Given the description of an element on the screen output the (x, y) to click on. 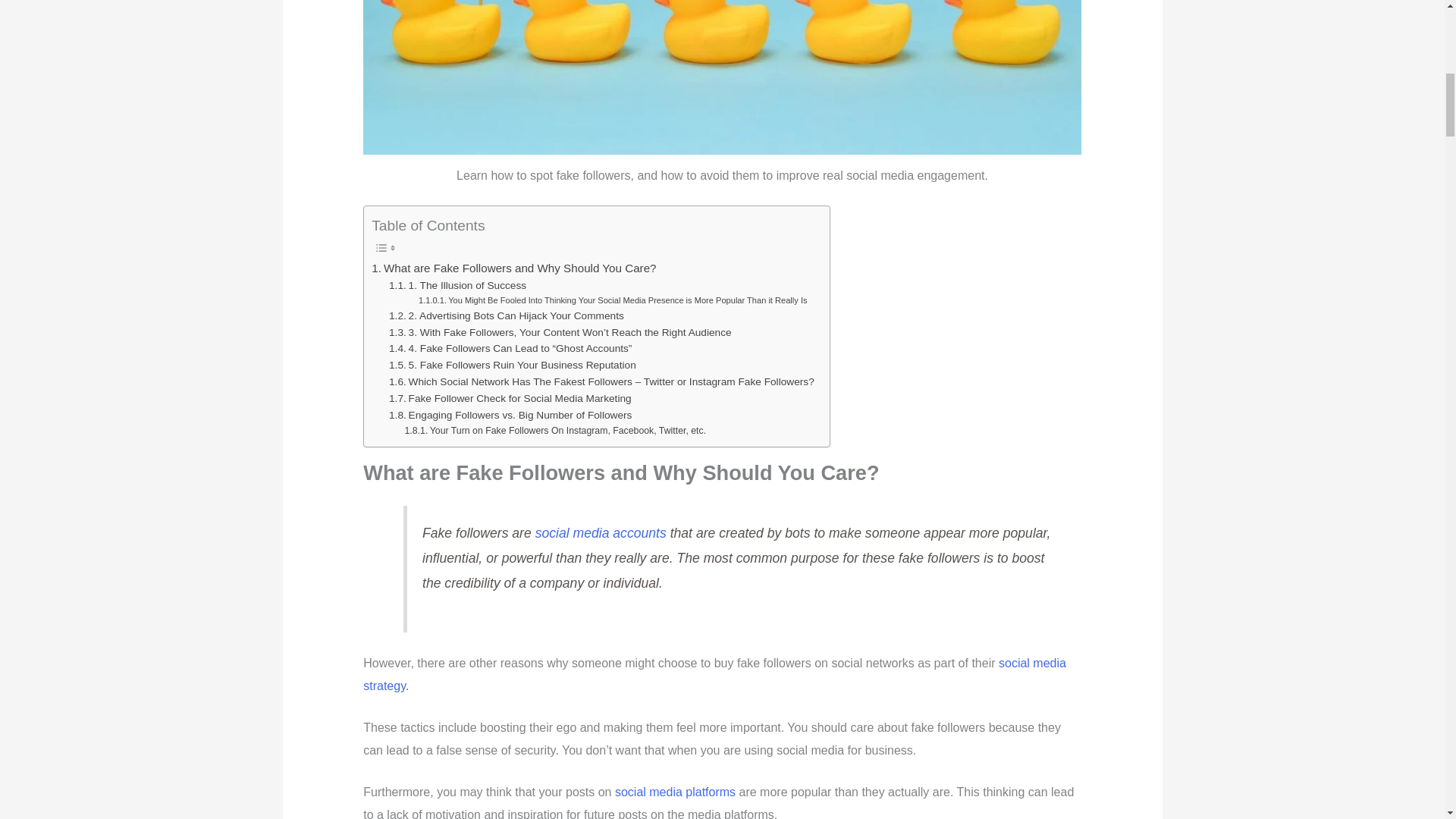
Engaging Followers vs. Big Number of Followers (509, 415)
Fake Follower Check for Social Media Marketing (509, 398)
What are Fake Followers and Why Should You Care? (513, 268)
2. Advertising Bots Can Hijack Your Comments (506, 315)
1. The Illusion of Success (456, 285)
5. Fake Followers Ruin Your Business Reputation (512, 365)
